Given the description of an element on the screen output the (x, y) to click on. 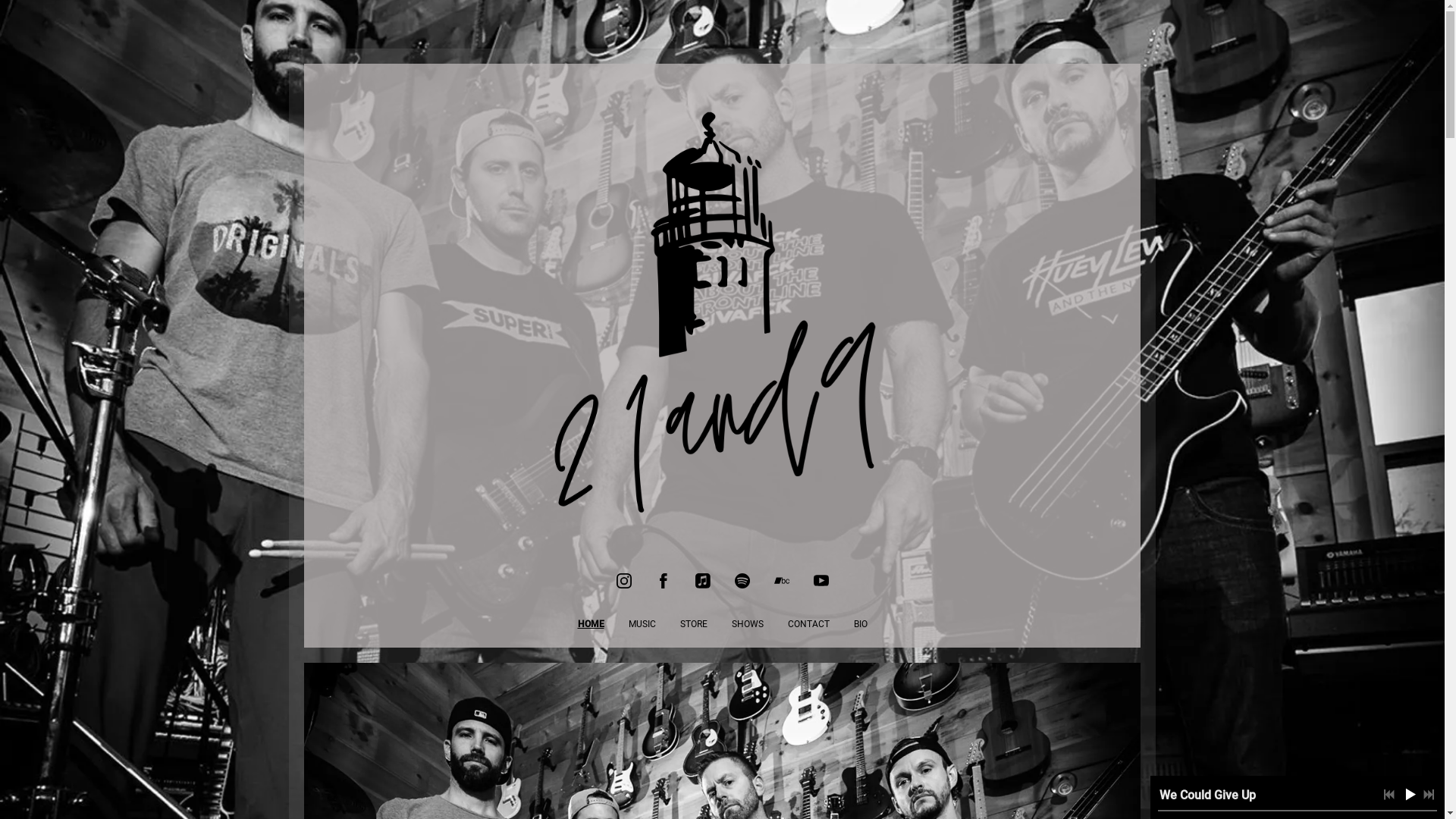
Play Element type: hover (1409, 793)
https://www.instagram.com/21and9/ Element type: hover (622, 580)
BIO Element type: text (860, 623)
https://itunes.apple.com/artist/21and9/1563512892 Element type: hover (701, 580)
MUSIC Element type: text (641, 623)
CONTACT Element type: text (807, 623)
SHOWS Element type: text (746, 623)
STORE Element type: text (692, 623)
HOME Element type: text (590, 623)
Previous track Element type: hover (1389, 794)
Next track Element type: hover (1428, 794)
https://www.facebook.com/21and9/?ref=page_internal Element type: hover (662, 580)
https://21and9.bandcamp.com/releases Element type: hover (780, 580)
https://www.youtube.com/channel/UCz74dJTXeLAeu71AWfeymRw Element type: hover (820, 580)
